Given the description of an element on the screen output the (x, y) to click on. 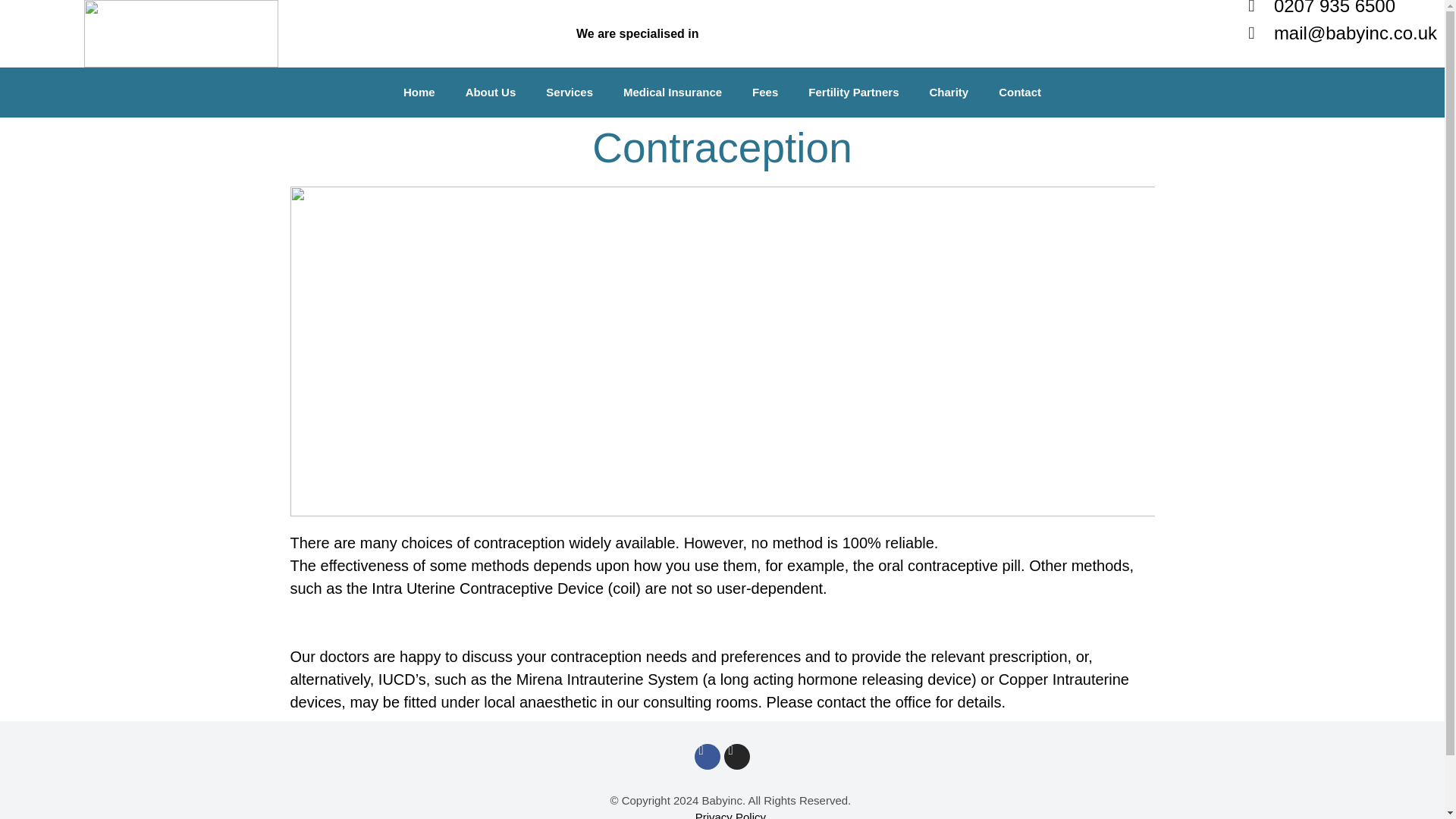
Services (569, 92)
Fertility Partners (853, 92)
Contact (1020, 92)
Medical Insurance (672, 92)
About Us (490, 92)
0207 935 6500 (1342, 9)
Charity (949, 92)
Home (418, 92)
Fees (764, 92)
